Given the description of an element on the screen output the (x, y) to click on. 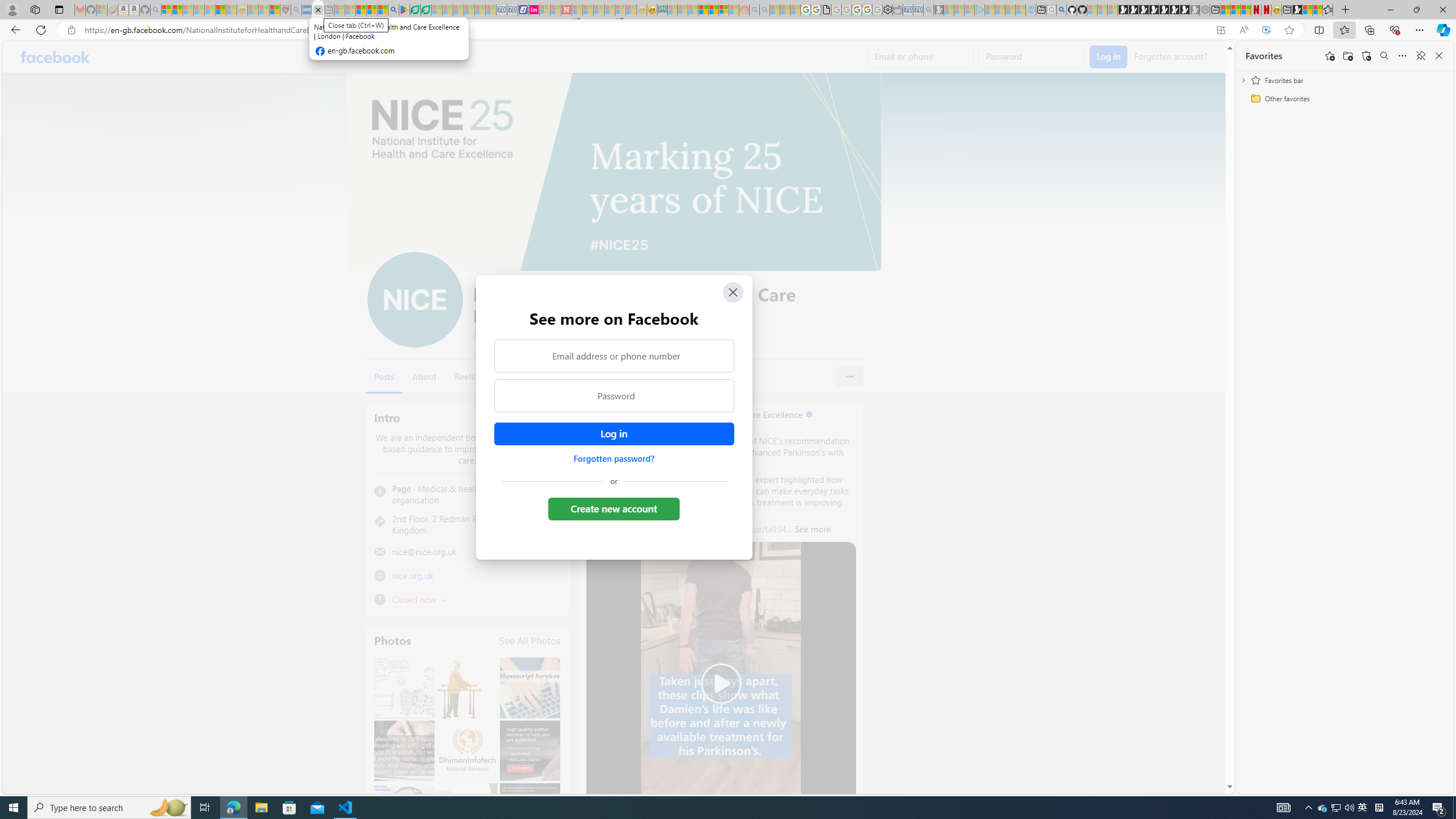
Email or phone (920, 56)
Kinda Frugal - MSN (713, 9)
